Given the description of an element on the screen output the (x, y) to click on. 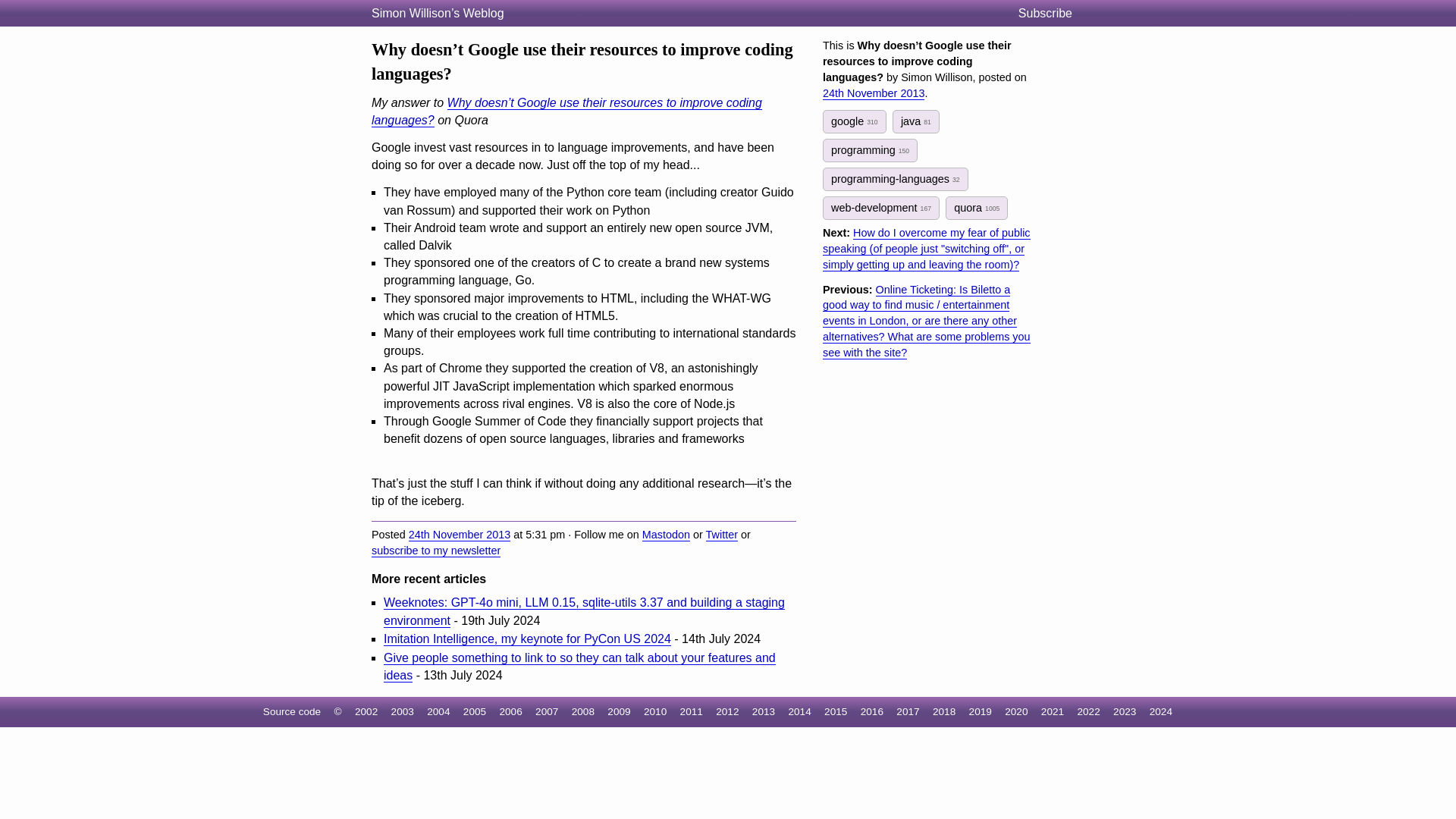
quora 1005 (975, 208)
2009 (618, 711)
java 81 (915, 121)
24th November 2013 (873, 92)
Twitter (722, 534)
2020 (1015, 711)
2011 (691, 711)
2012 (727, 711)
2019 (980, 711)
programming-languages 32 (895, 178)
Source code (291, 711)
2017 (907, 711)
Mastodon (666, 534)
2004 (437, 711)
